Given the description of an element on the screen output the (x, y) to click on. 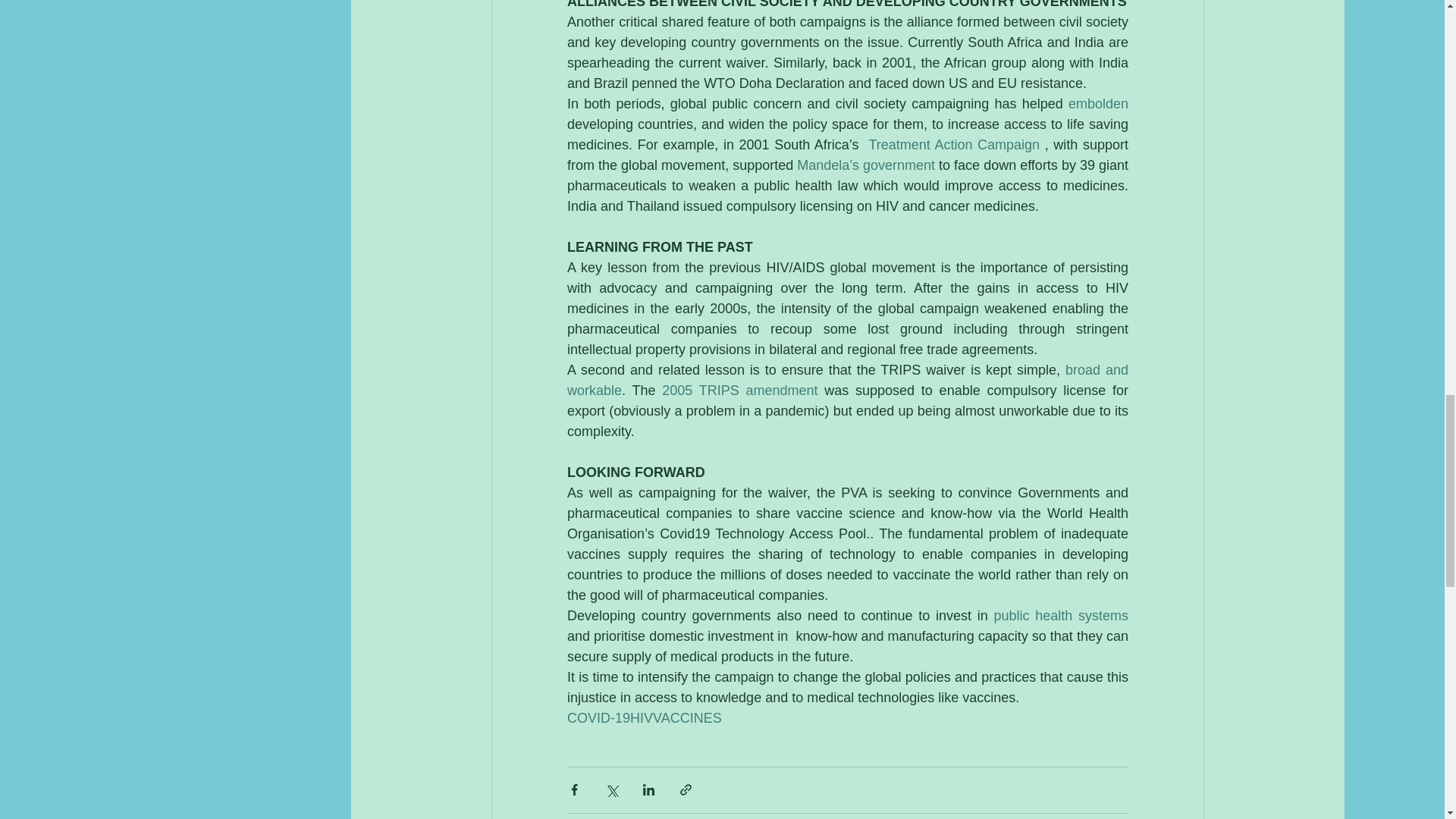
embolden (1096, 103)
Treatment Action Campaign (953, 144)
